Given the description of an element on the screen output the (x, y) to click on. 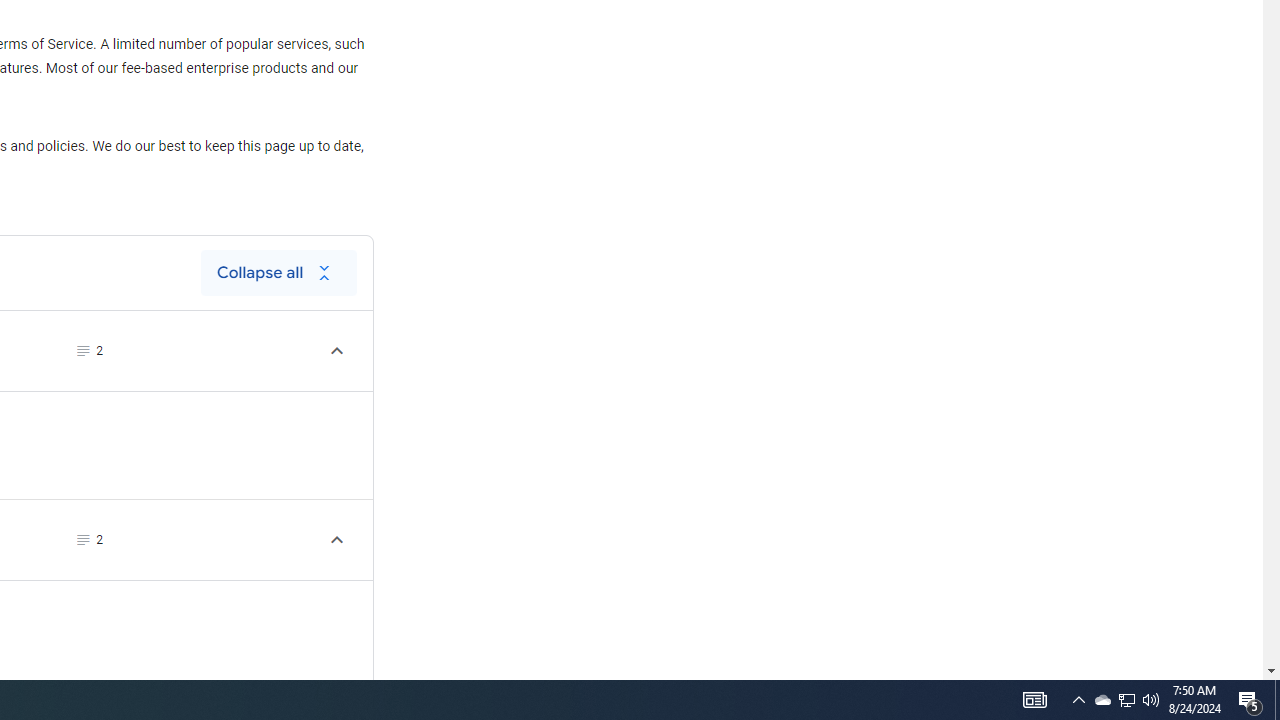
Collapse all (278, 272)
